Given the description of an element on the screen output the (x, y) to click on. 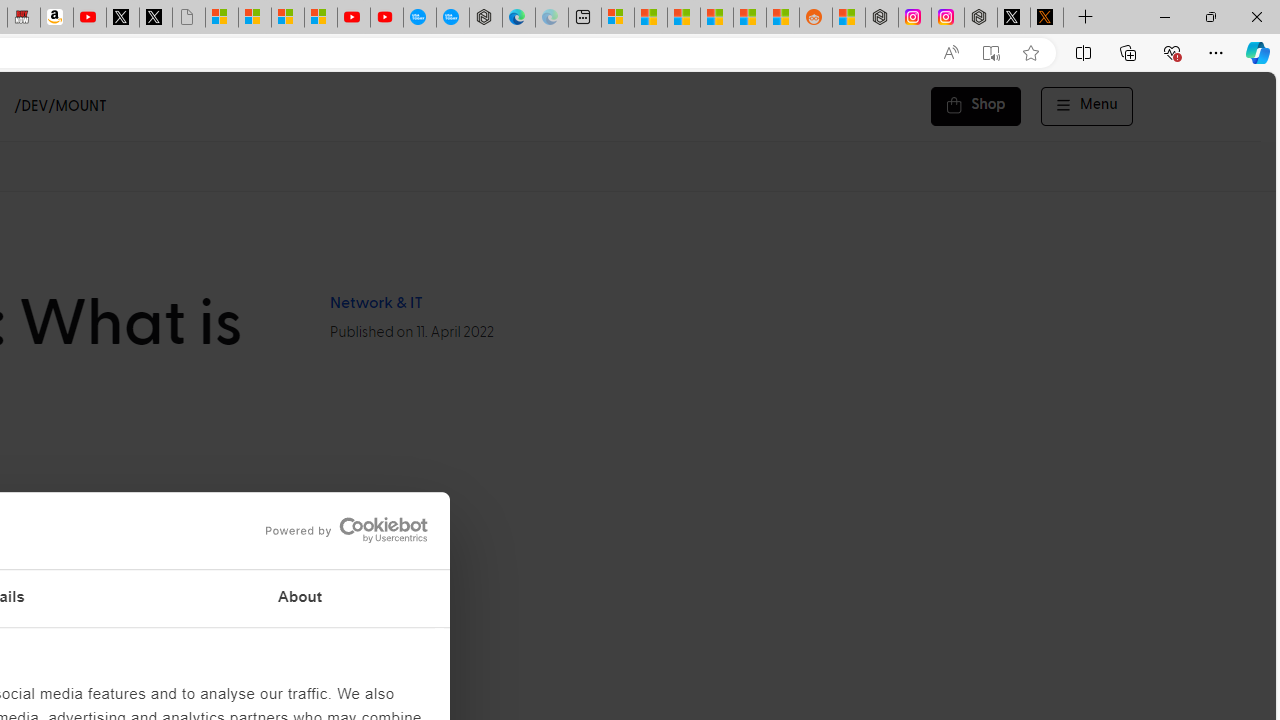
Shop (975, 106)
Enter Immersive Reader (F9) (991, 53)
Shanghai, China hourly forecast | Microsoft Weather (684, 17)
